Given the description of an element on the screen output the (x, y) to click on. 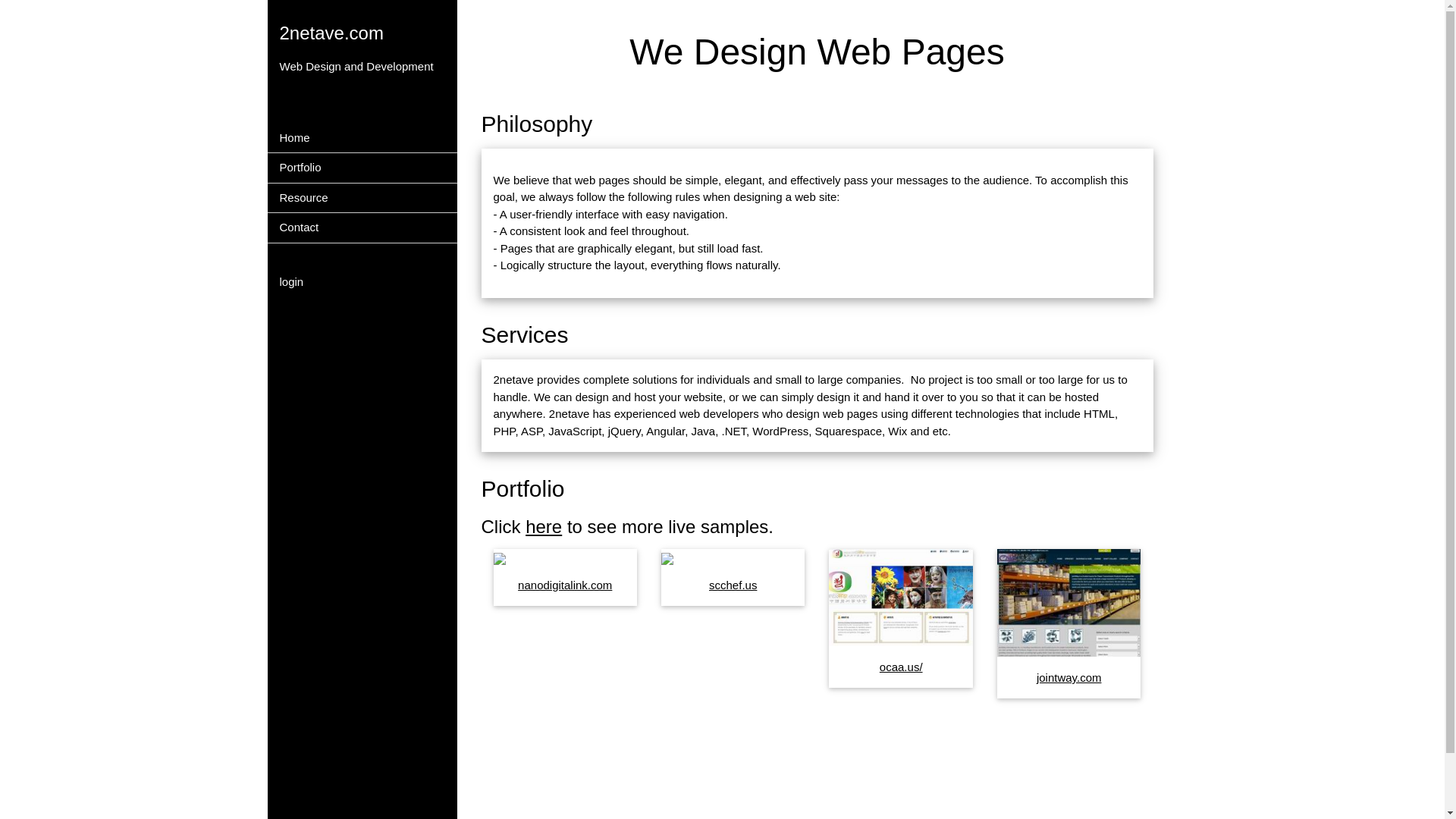
nanodigitalink.com Element type: text (564, 584)
jointway.com Element type: text (1068, 677)
Contact Element type: text (361, 228)
Home Element type: text (361, 137)
Resource Element type: text (361, 198)
login Element type: text (361, 281)
ocaa.us/ Element type: text (900, 666)
Portfolio Element type: text (361, 168)
scchef.us Element type: text (732, 584)
here Element type: text (543, 526)
